Given the description of an element on the screen output the (x, y) to click on. 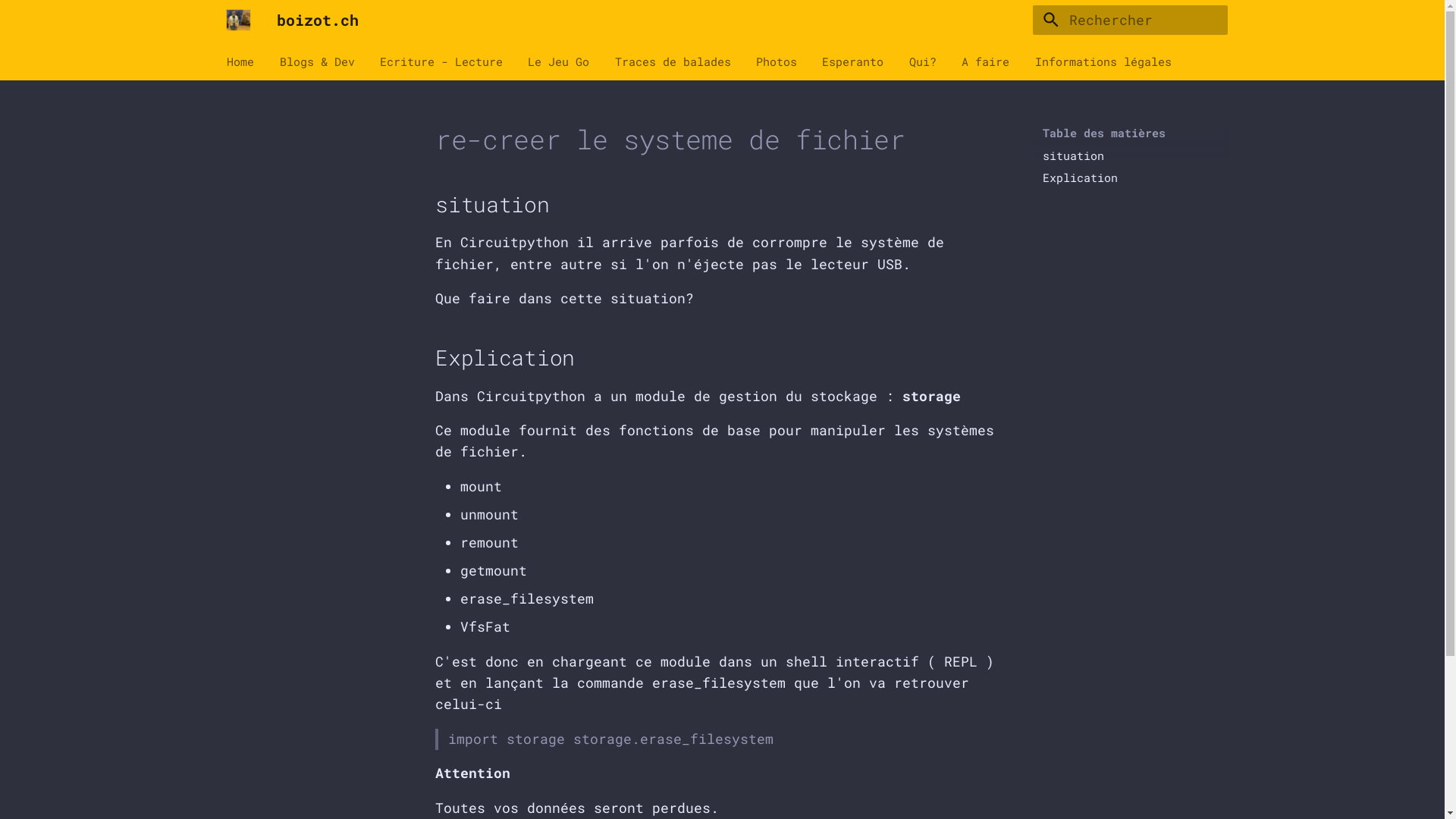
Explication Element type: text (1128, 177)
Blogs & Dev Element type: text (316, 60)
situation Element type: text (1128, 155)
Qui? Element type: text (922, 60)
Home Element type: text (240, 60)
Esperanto Element type: text (852, 60)
Photos Element type: text (776, 60)
A faire Element type: text (985, 60)
boizot.ch Element type: hover (238, 19)
Le Jeu Go Element type: text (558, 60)
Ecriture - Lecture Element type: text (440, 60)
Traces de balades Element type: text (673, 60)
